Given the description of an element on the screen output the (x, y) to click on. 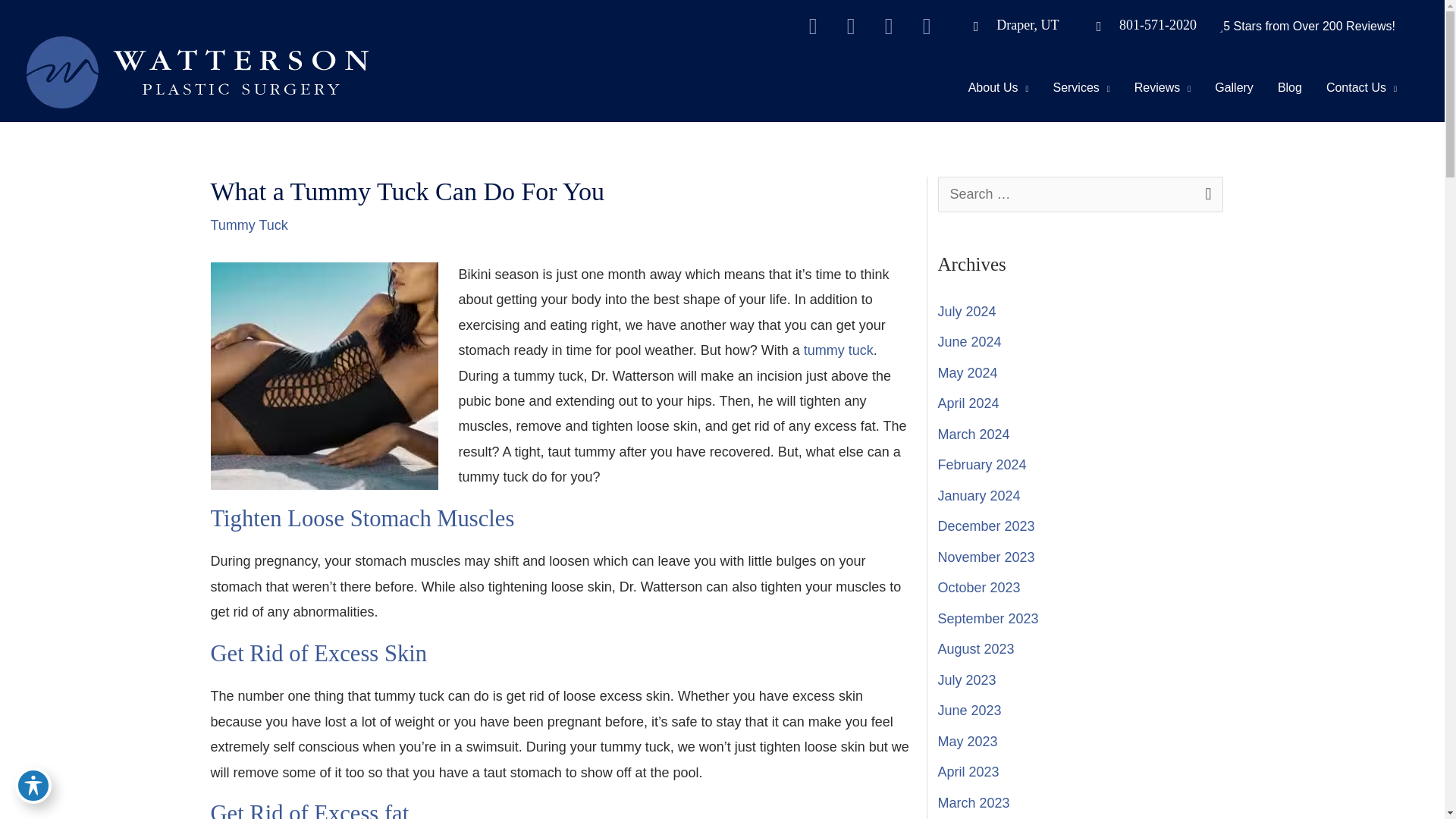
Draper, UT (1009, 24)
About Us (998, 87)
Tummy Tuck (324, 375)
Services (1081, 87)
5 Stars from Over 200 Reviews! (1308, 25)
801-571-2020 (1138, 24)
